Given the description of an element on the screen output the (x, y) to click on. 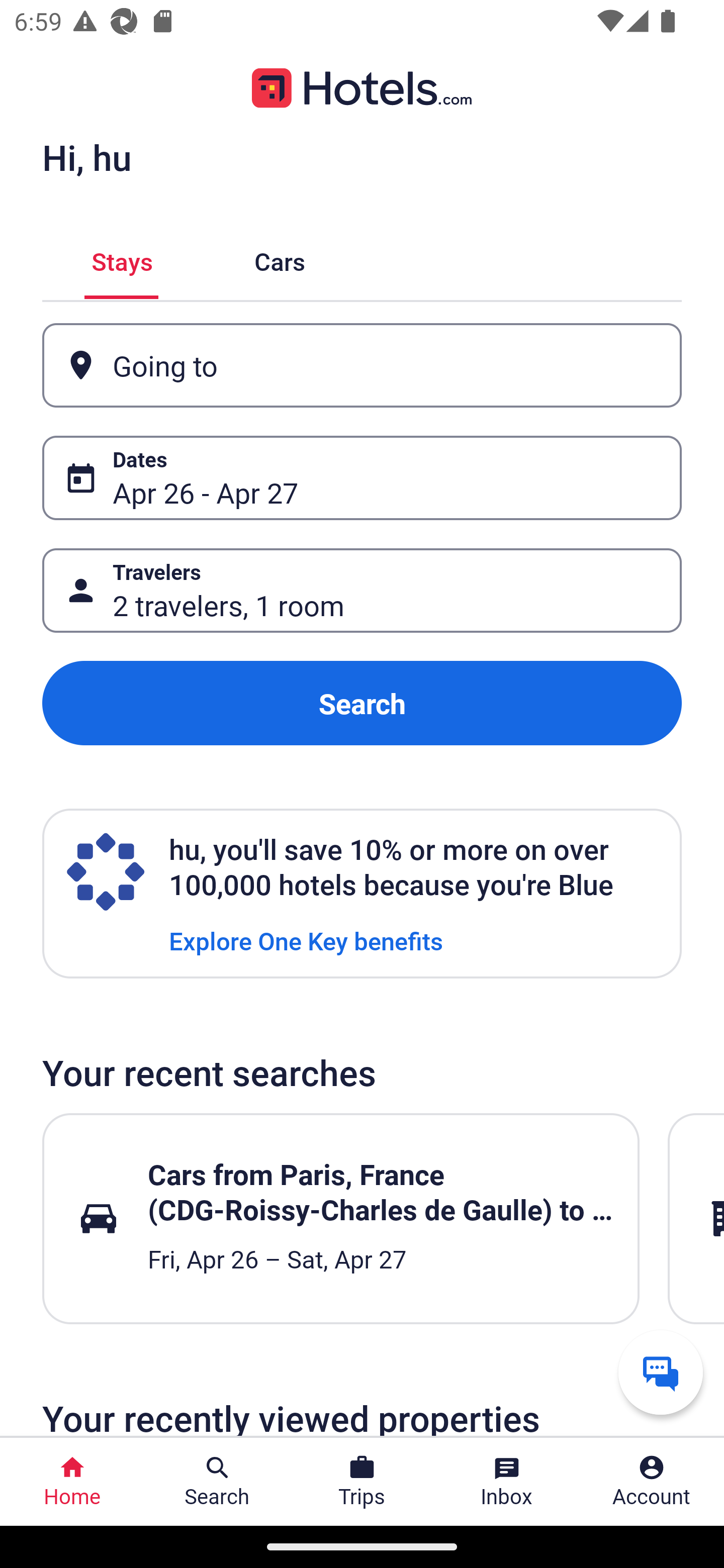
Hi, hu (86, 156)
Cars (279, 259)
Going to Button (361, 365)
Dates Button Apr 26 - Apr 27 (361, 477)
Travelers Button 2 travelers, 1 room (361, 590)
Search (361, 702)
Get help from a virtual agent (660, 1371)
Search Search Button (216, 1481)
Trips Trips Button (361, 1481)
Inbox Inbox Button (506, 1481)
Account Profile. Button (651, 1481)
